Given the description of an element on the screen output the (x, y) to click on. 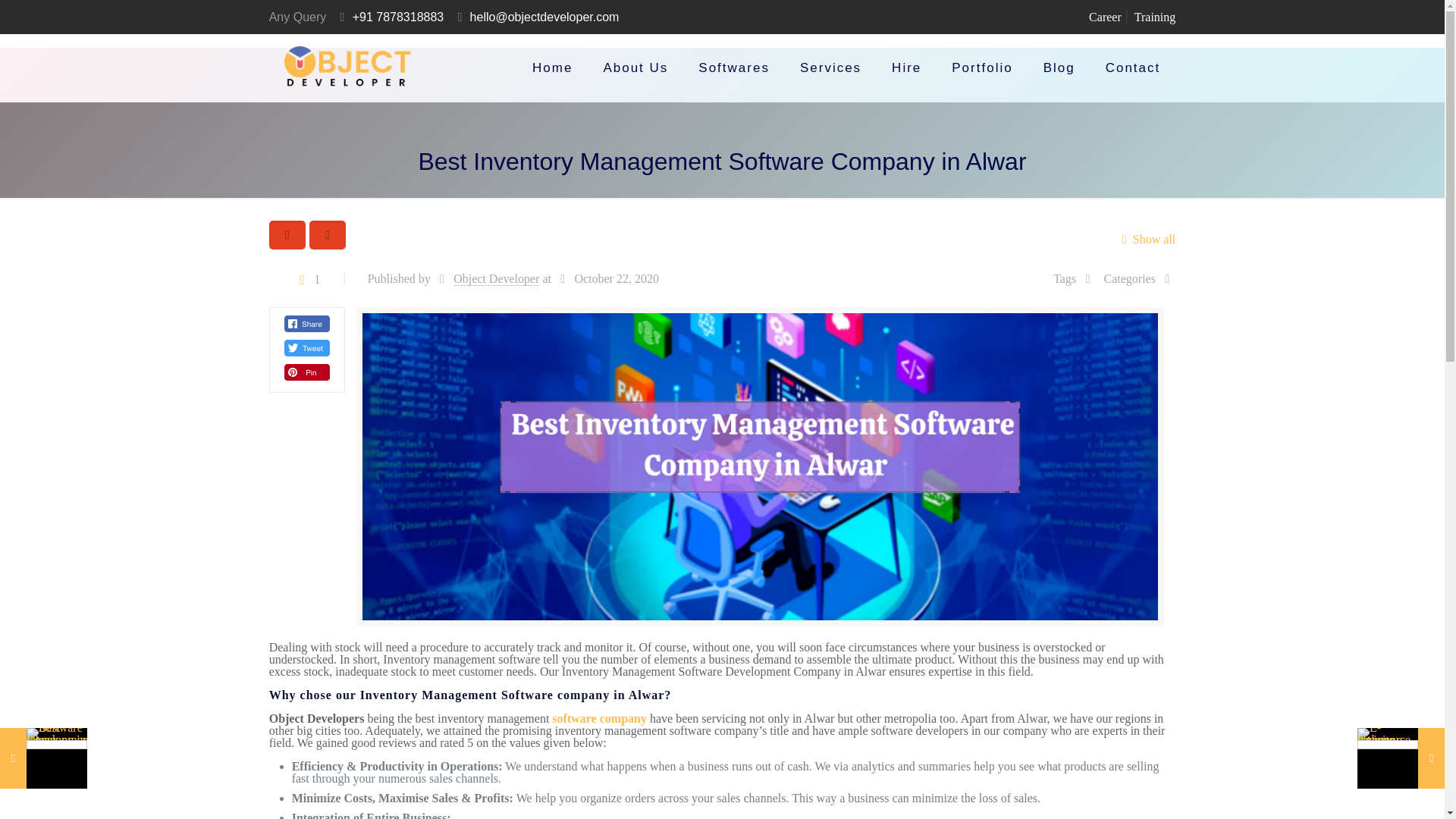
Training (1155, 16)
Home (552, 68)
Services (830, 68)
Softwares (733, 68)
Career (1105, 16)
About Us (635, 68)
